Given the description of an element on the screen output the (x, y) to click on. 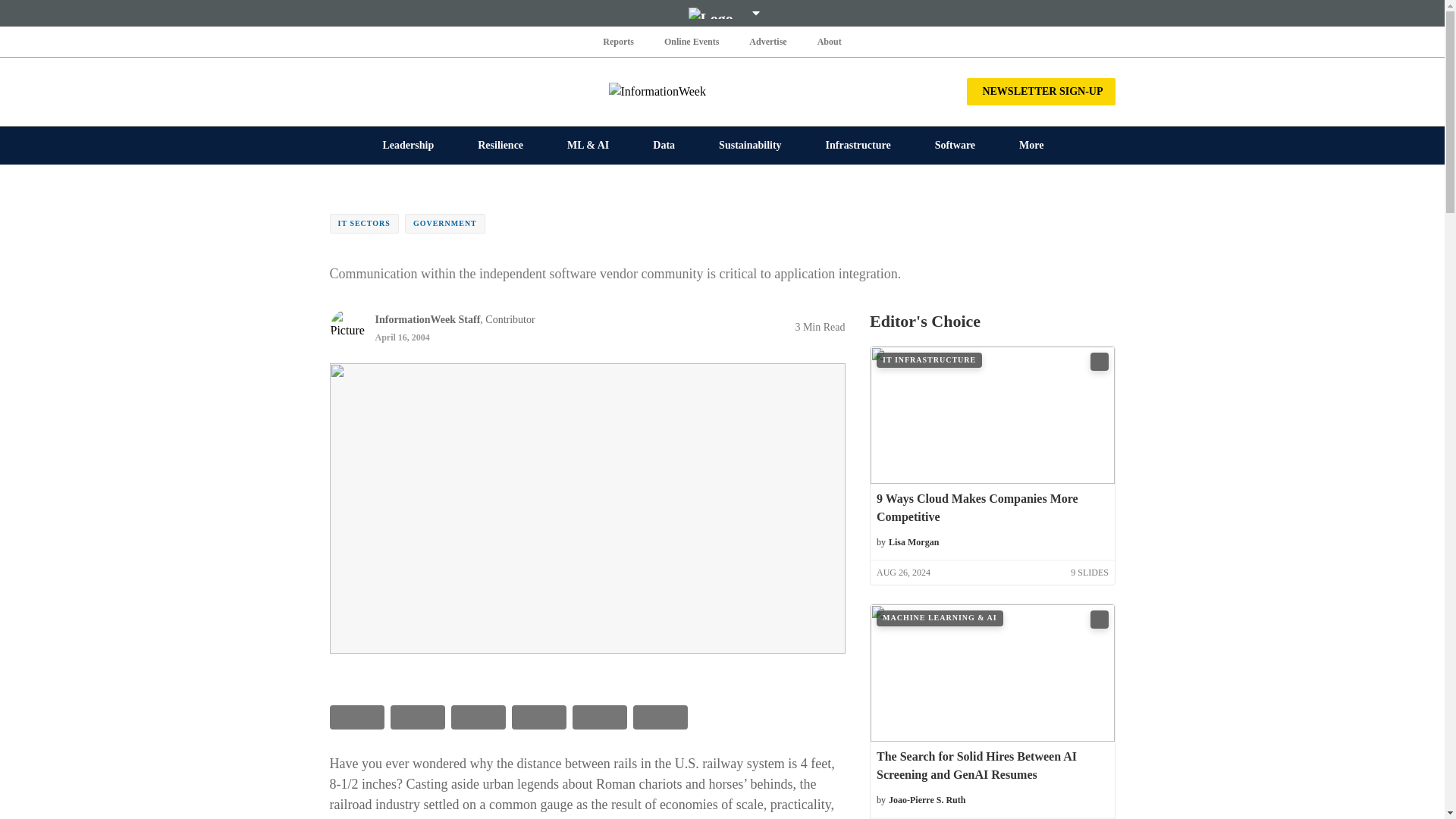
About (828, 41)
Reports (618, 41)
Online Events (691, 41)
NEWSLETTER SIGN-UP (1040, 90)
InformationWeek (721, 91)
Advertise (767, 41)
